Given the description of an element on the screen output the (x, y) to click on. 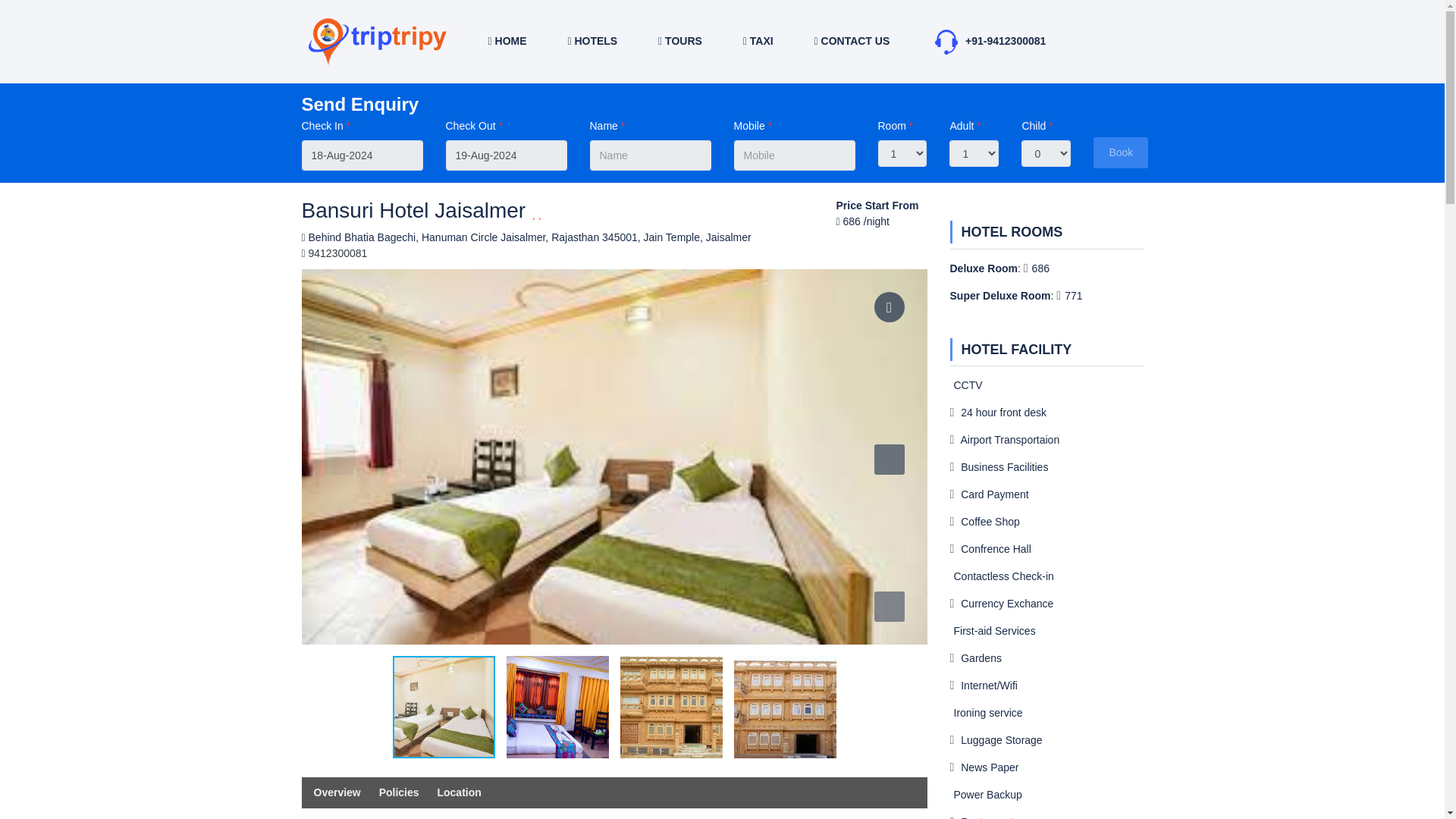
Location (466, 792)
Policies (405, 792)
CONTACT US (851, 41)
Taxi Services (757, 41)
Support (946, 41)
Hotels in India (592, 41)
TripTripy Logo (377, 41)
Overview (344, 792)
9412300081 (338, 253)
TOURS (679, 41)
